Given the description of an element on the screen output the (x, y) to click on. 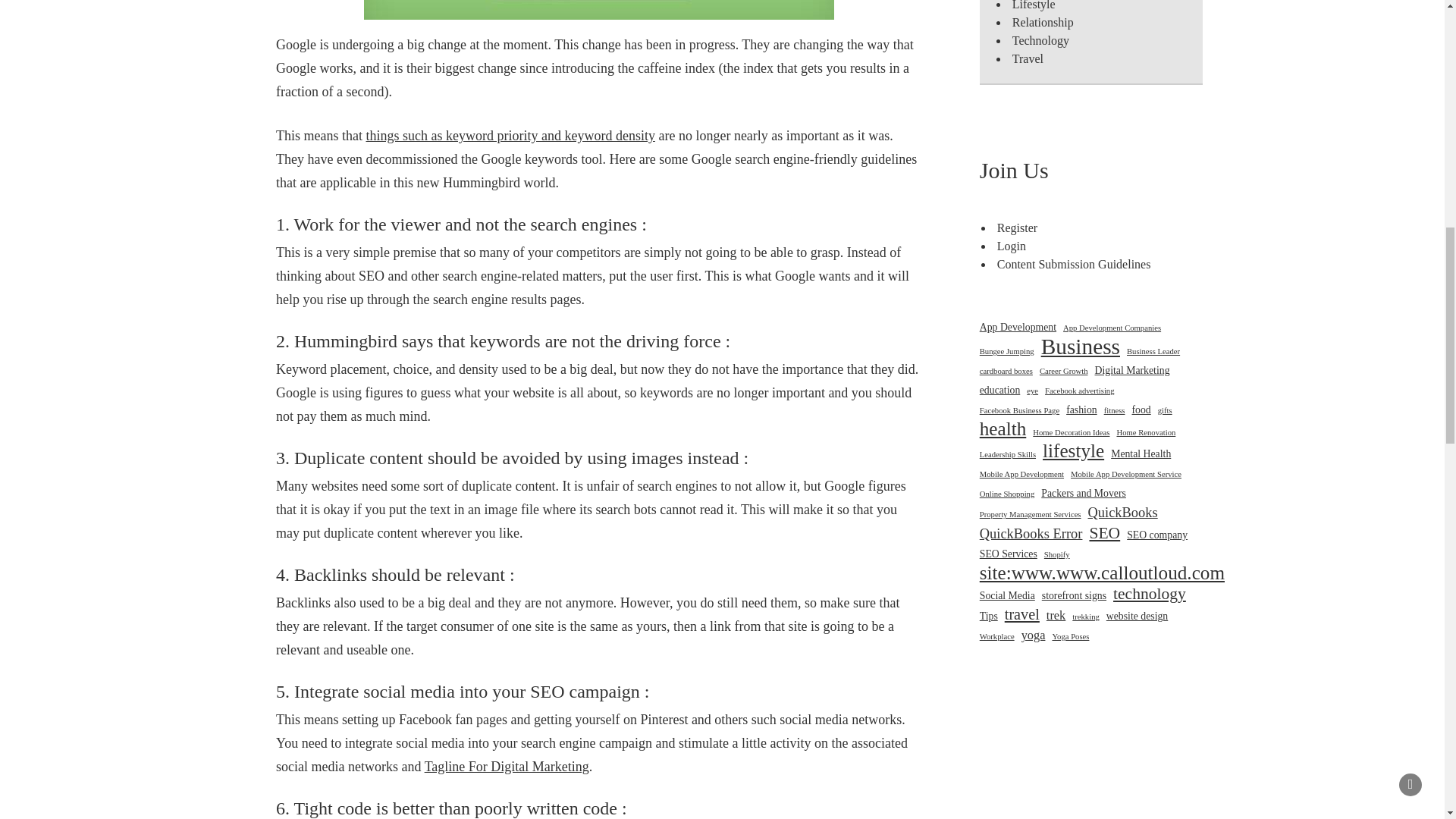
things such as keyword priority and keyword density (509, 135)
Tagline For Digital Marketing (507, 766)
